Given the description of an element on the screen output the (x, y) to click on. 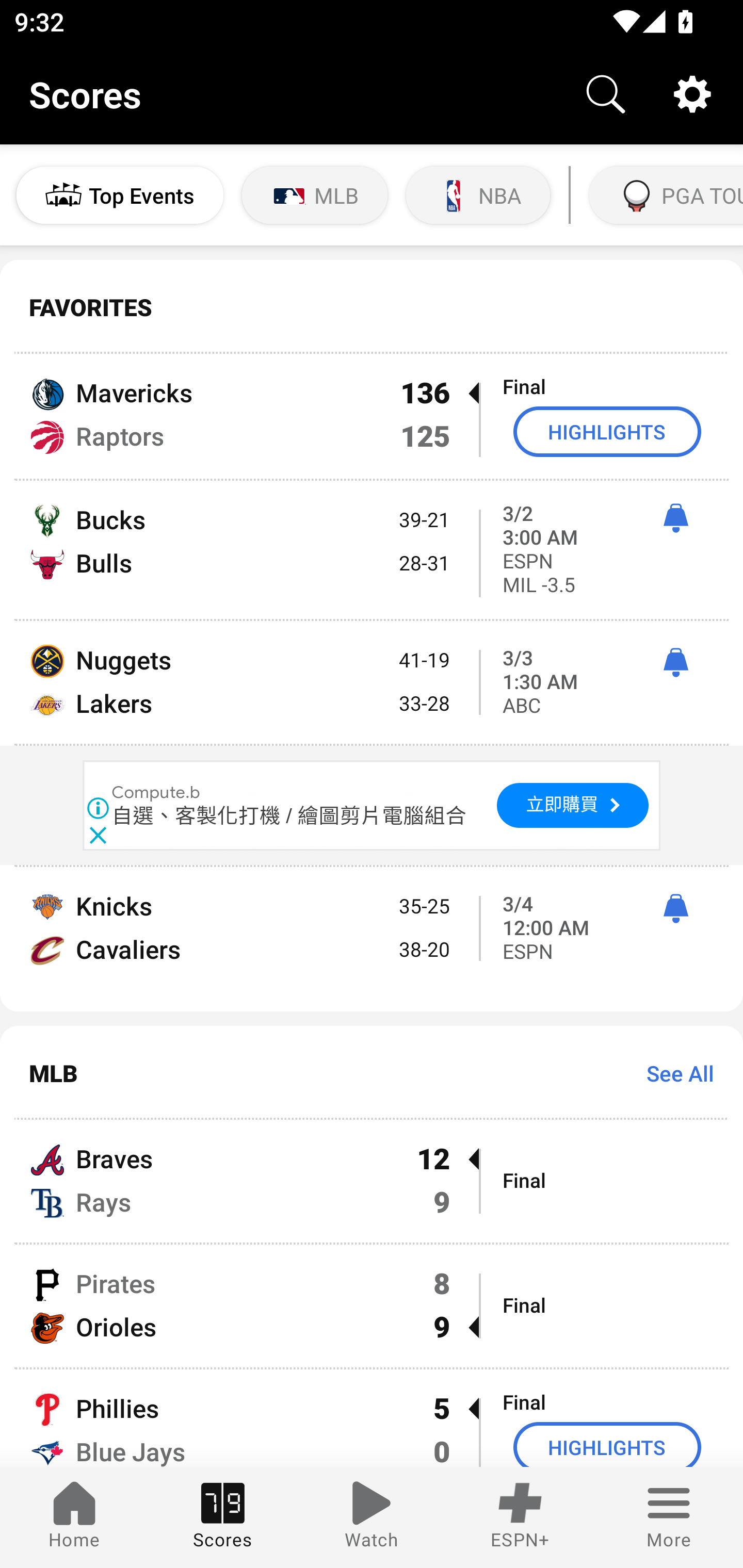
Search (605, 93)
Settings (692, 93)
 Top Events (119, 194)
MLB (314, 194)
NBA (477, 194)
PGA TOUR (664, 194)
FAVORITES (371, 307)
Mavericks 136  Final Raptors 125 HIGHLIGHTS (371, 416)
HIGHLIGHTS (607, 431)
ì (675, 517)
Nuggets 41-19 Lakers 33-28 3/3 1:30 AM ì ABC (371, 681)
ì (675, 662)
Compute.b (156, 793)
立即購買 (572, 805)
自選、客製化打機 / 繪圖剪片電腦組合 (288, 816)
Knicks 35-25 Cavaliers 38-20 3/4 12:00 AM ì ESPN (371, 939)
ì (675, 908)
MLB See All (371, 1072)
See All (673, 1073)
Braves 12  Rays 9 Final (371, 1180)
Pirates 8 Orioles 9  Final (371, 1305)
Phillies 5  Final Blue Jays 0 HIGHLIGHTS (371, 1417)
HIGHLIGHTS (607, 1444)
Home (74, 1517)
Watch (371, 1517)
ESPN+ (519, 1517)
More (668, 1517)
